Given the description of an element on the screen output the (x, y) to click on. 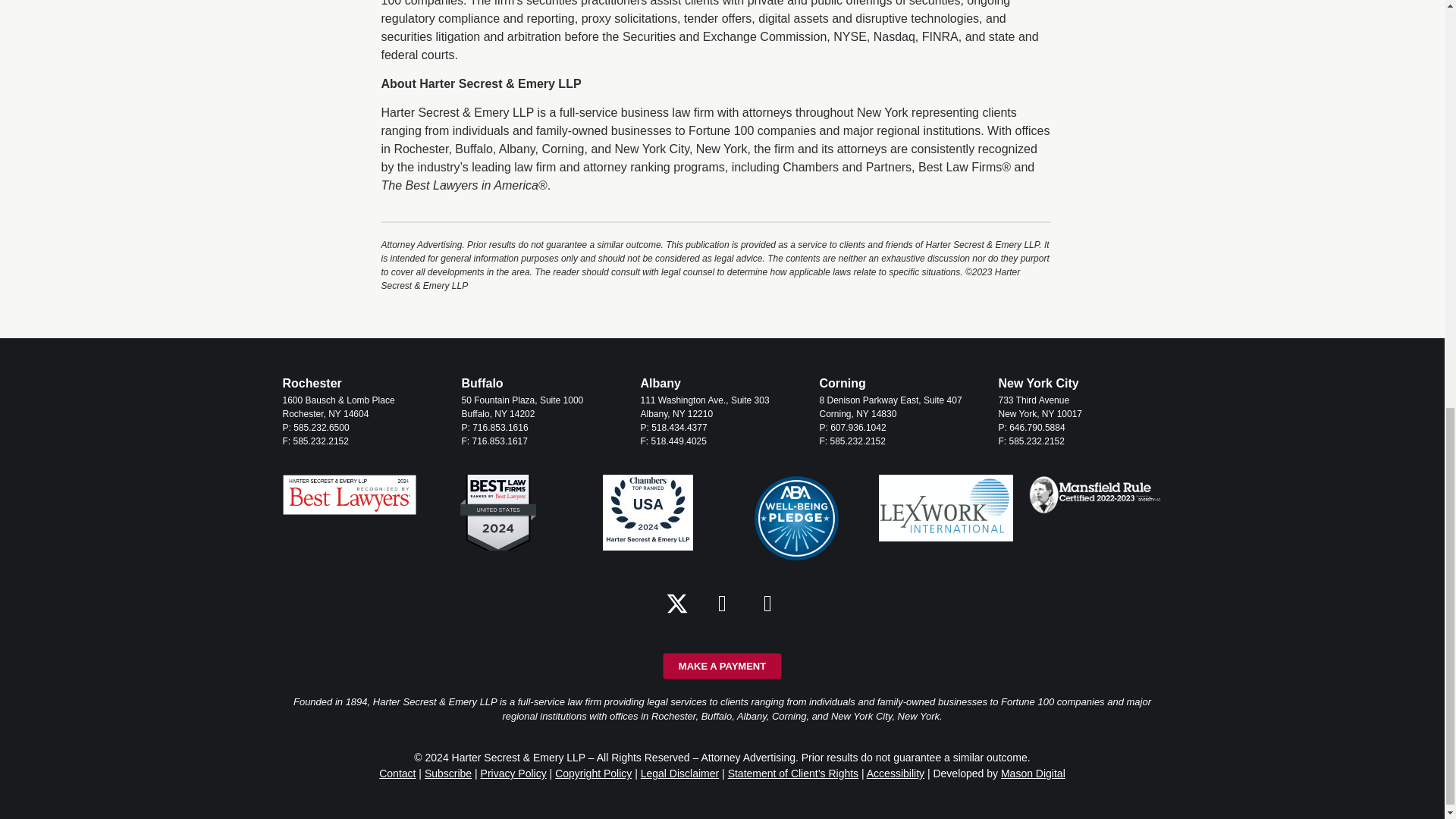
Chambers 2024 (647, 512)
Best Law Firms Standard Badge (497, 512)
Well Being Logo 2019 Web (796, 518)
